Given the description of an element on the screen output the (x, y) to click on. 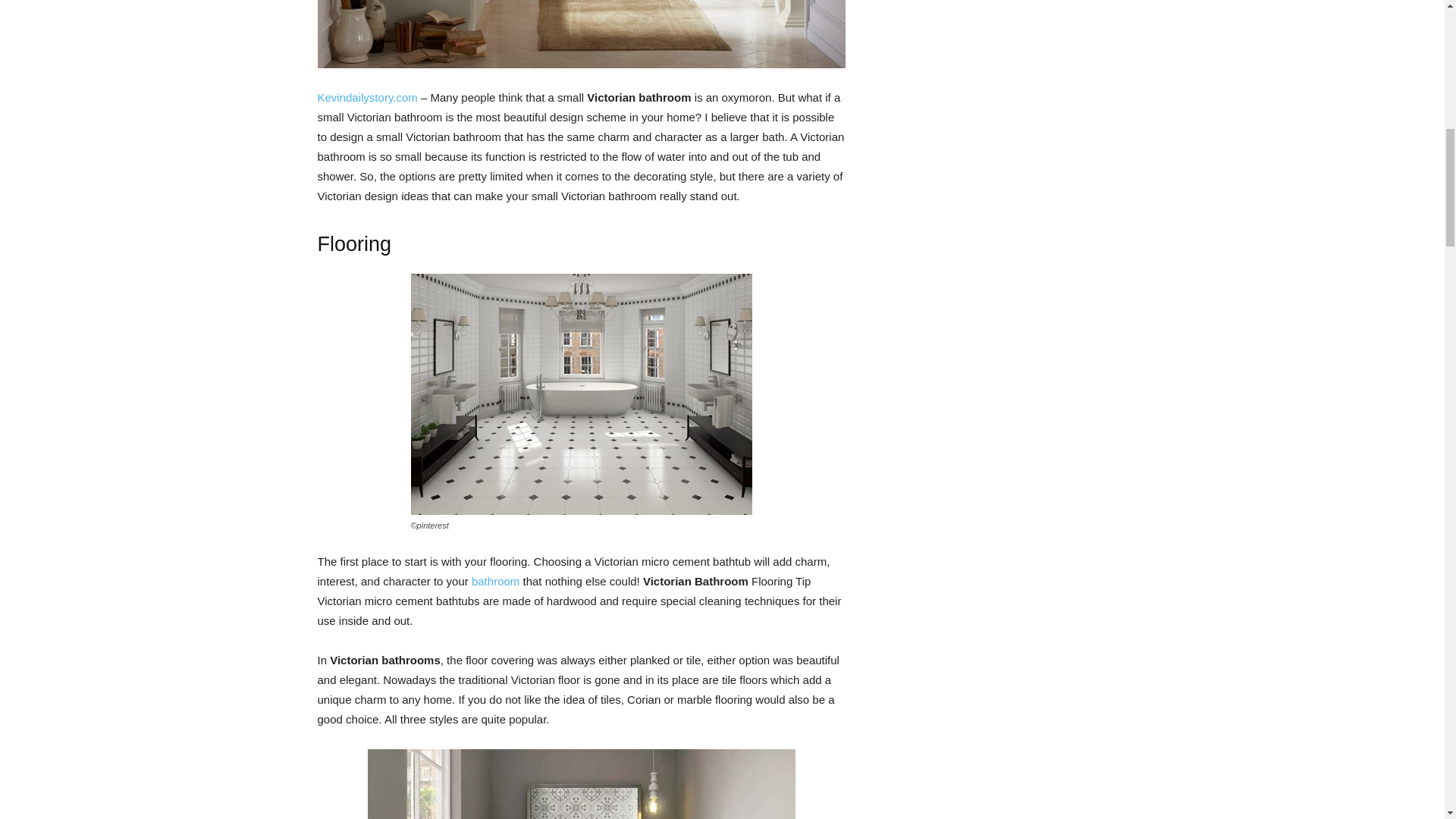
Kevindailystory.com (366, 97)
bathroom (495, 581)
